Given the description of an element on the screen output the (x, y) to click on. 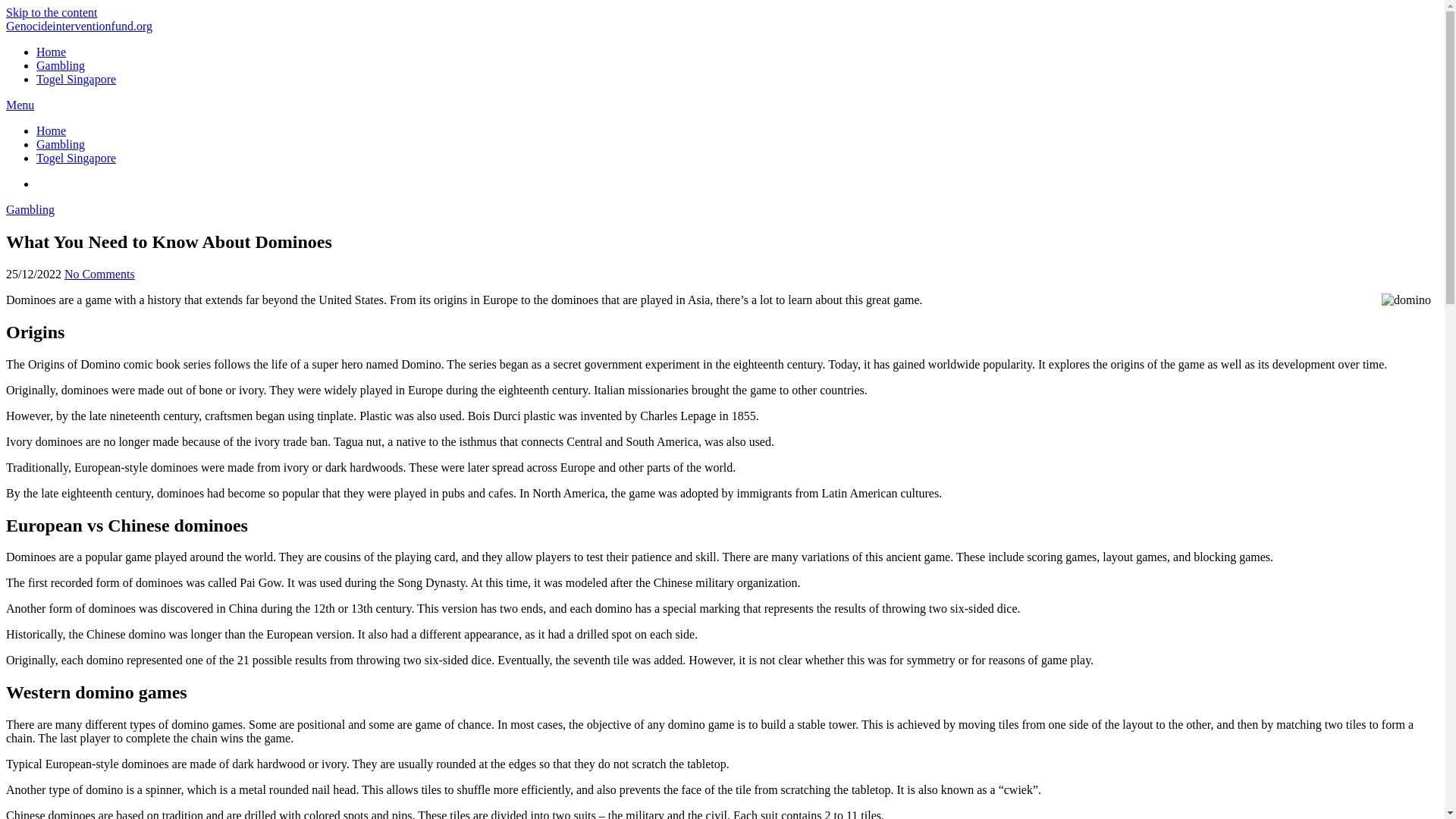
Home (50, 51)
Togel Singapore (76, 157)
Gambling (30, 209)
Menu (19, 104)
Togel Singapore (76, 78)
Home (50, 130)
Gambling (60, 65)
Skip to the content (51, 11)
Genocideinterventionfund.org (78, 25)
Gambling (60, 144)
No Comments (99, 273)
